Given the description of an element on the screen output the (x, y) to click on. 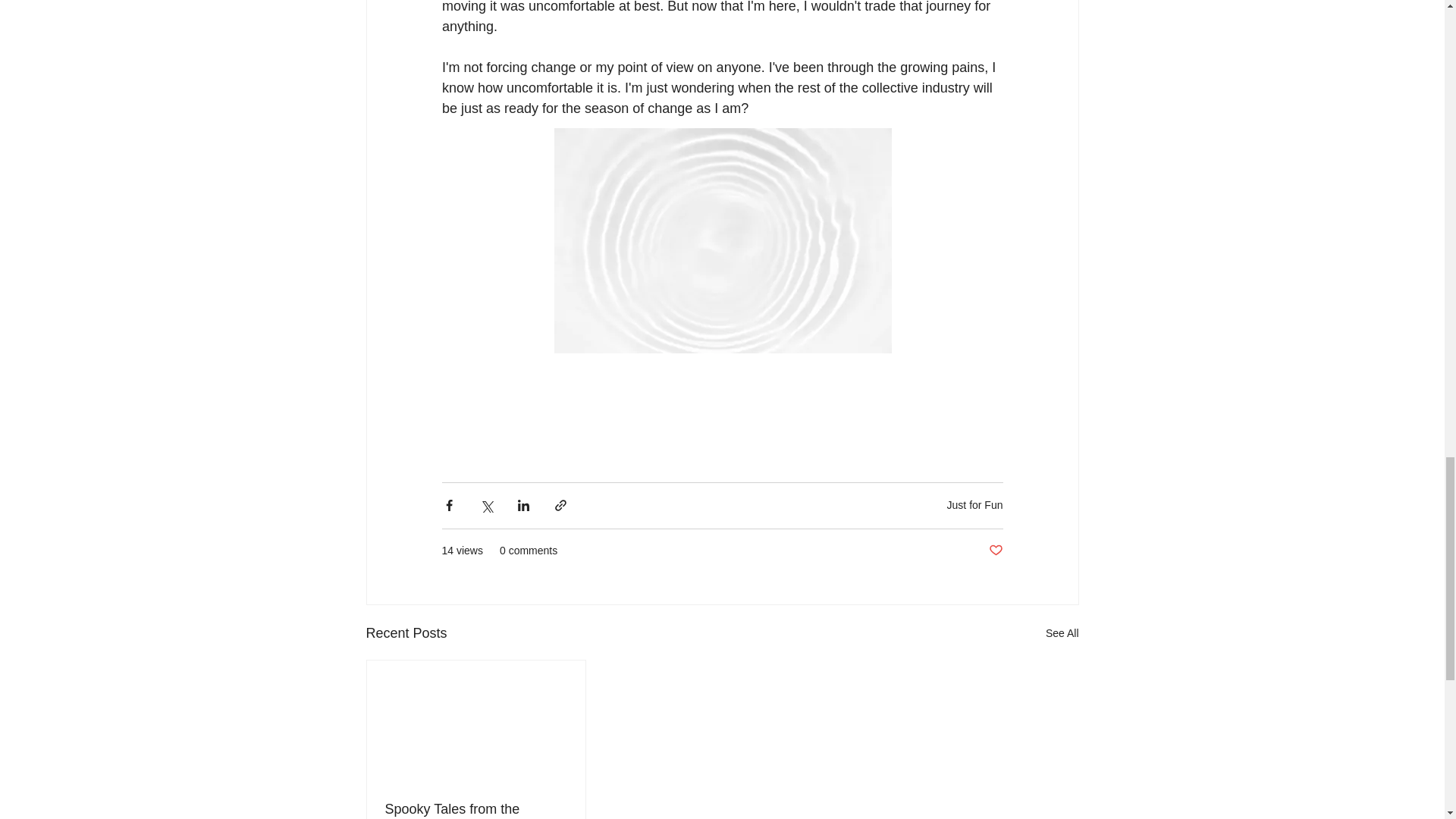
Spooky Tales from the Trenches! (476, 810)
Post not marked as liked (995, 550)
See All (1061, 633)
Just for Fun (975, 504)
